Given the description of an element on the screen output the (x, y) to click on. 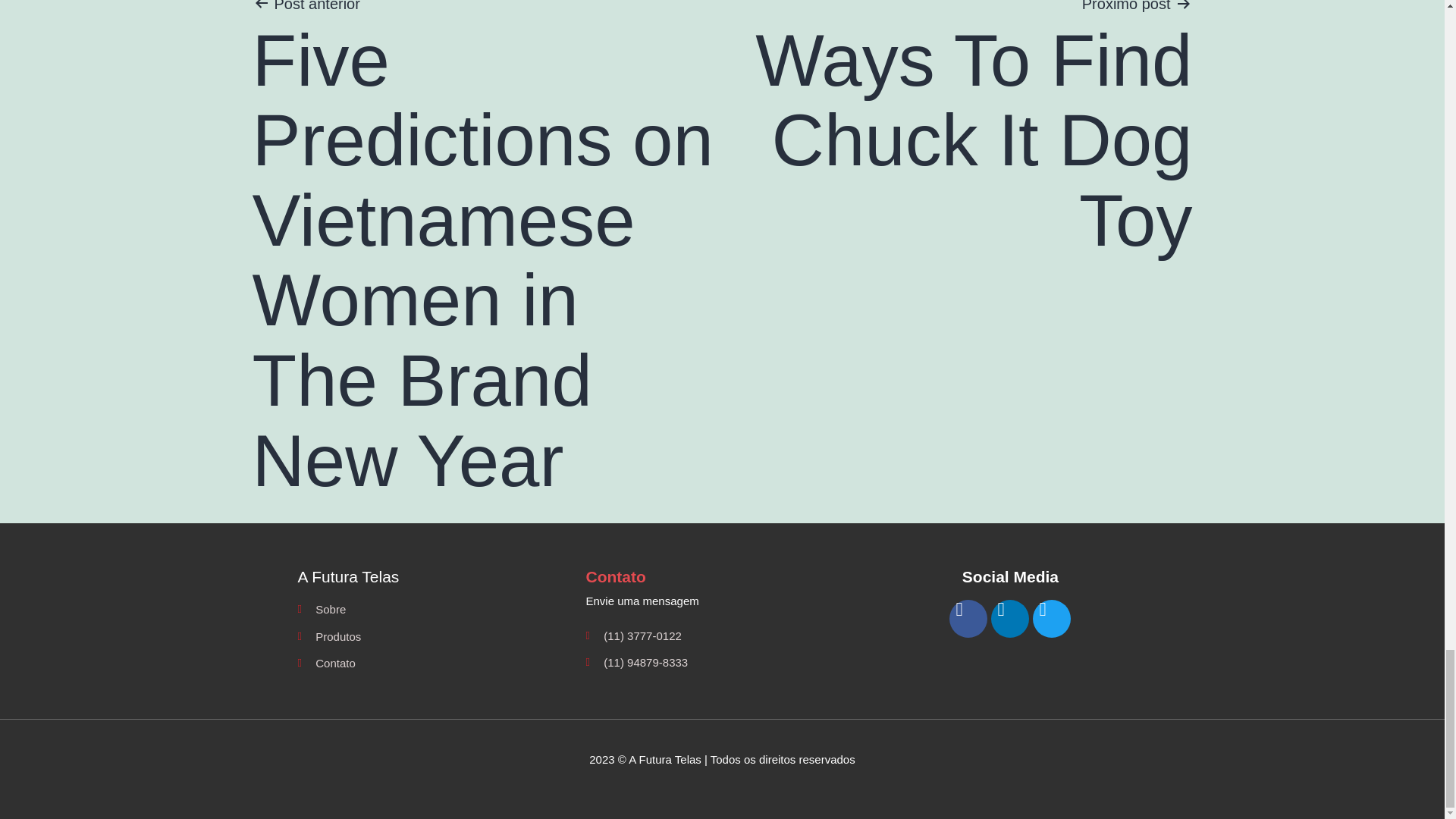
Produtos (433, 637)
Sobre (433, 609)
Contato (433, 663)
Envie uma mensagem (722, 600)
